Given the description of an element on the screen output the (x, y) to click on. 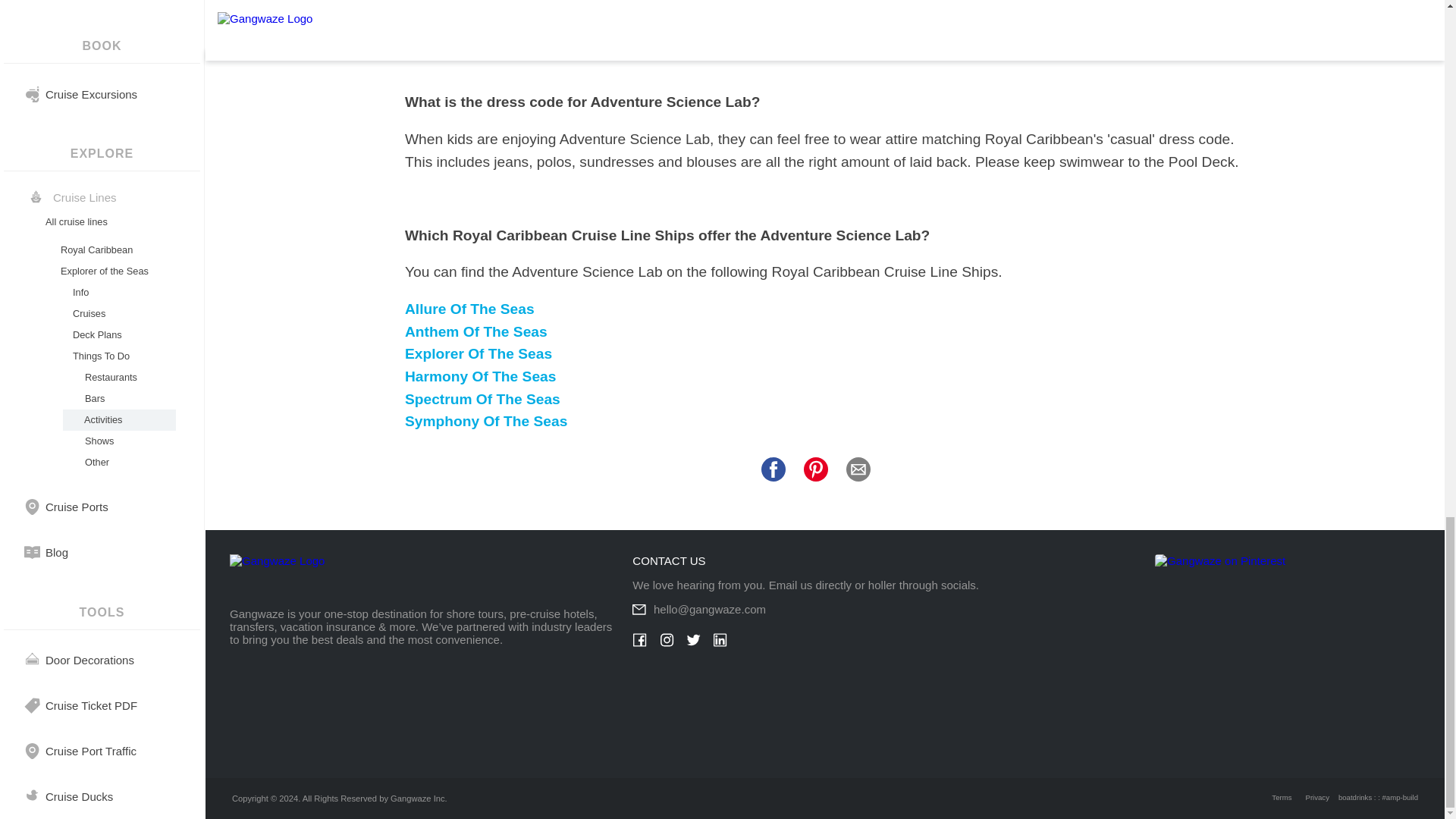
Anthem Of The Seas (475, 331)
Harmony Of The Seas (480, 376)
Spectrum Of The Seas (482, 399)
Symphony Of The Seas (485, 421)
Explorer Of The Seas (477, 353)
Allure Of The Seas (469, 308)
